Given the description of an element on the screen output the (x, y) to click on. 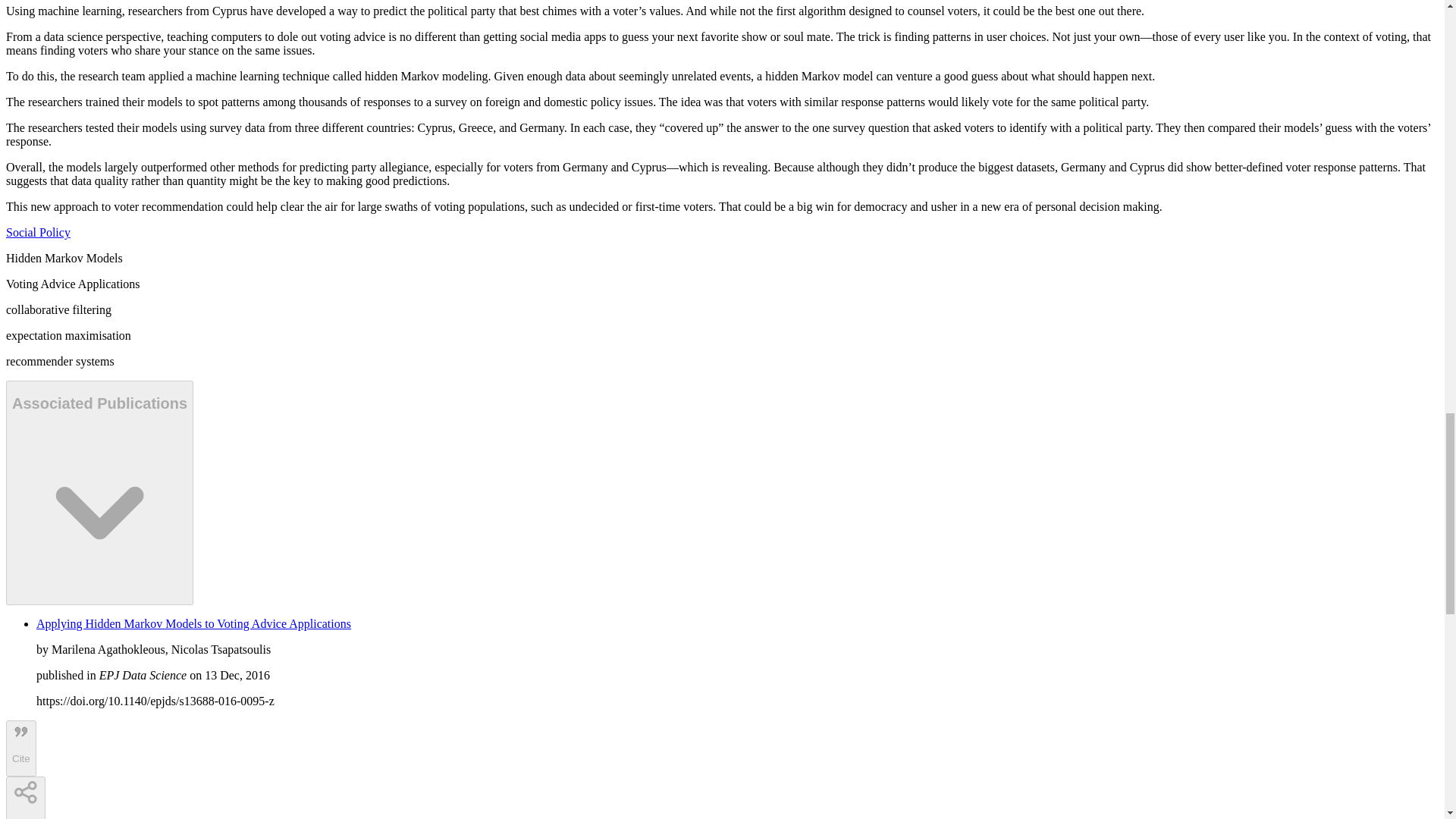
Applying Hidden Markov Models to Voting Advice Applications (193, 623)
Social Policy (37, 232)
Share (25, 797)
